Given the description of an element on the screen output the (x, y) to click on. 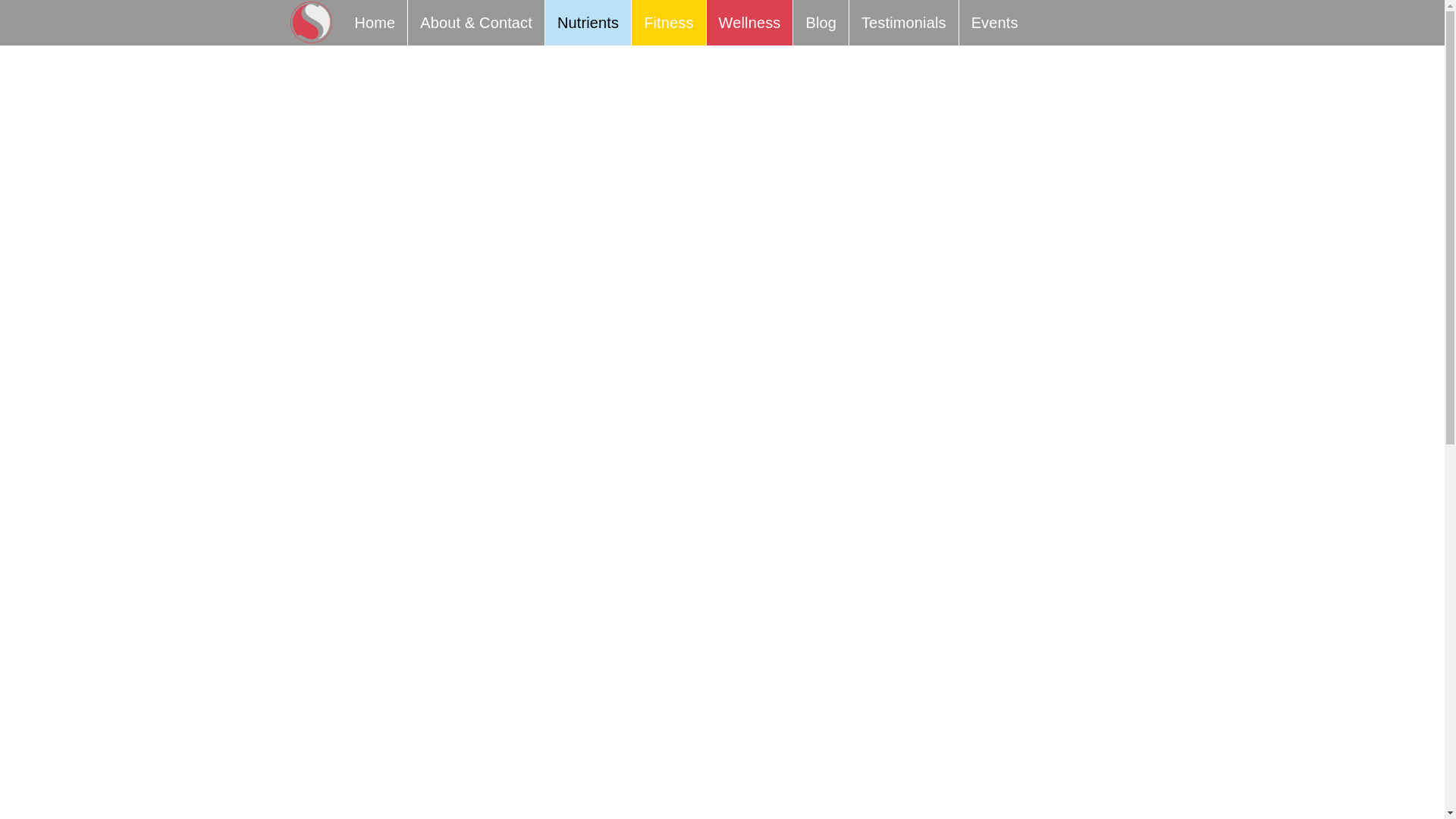
Nutrients (587, 22)
Blog (820, 22)
Home (374, 22)
Blog (820, 22)
Events (994, 22)
Testimonials (903, 22)
Fitness (667, 22)
Events (994, 22)
Fitness (667, 22)
Home (374, 22)
Testimonials (903, 22)
Wellness (749, 22)
Wellness (749, 22)
Nutrients (587, 22)
